Given the description of an element on the screen output the (x, y) to click on. 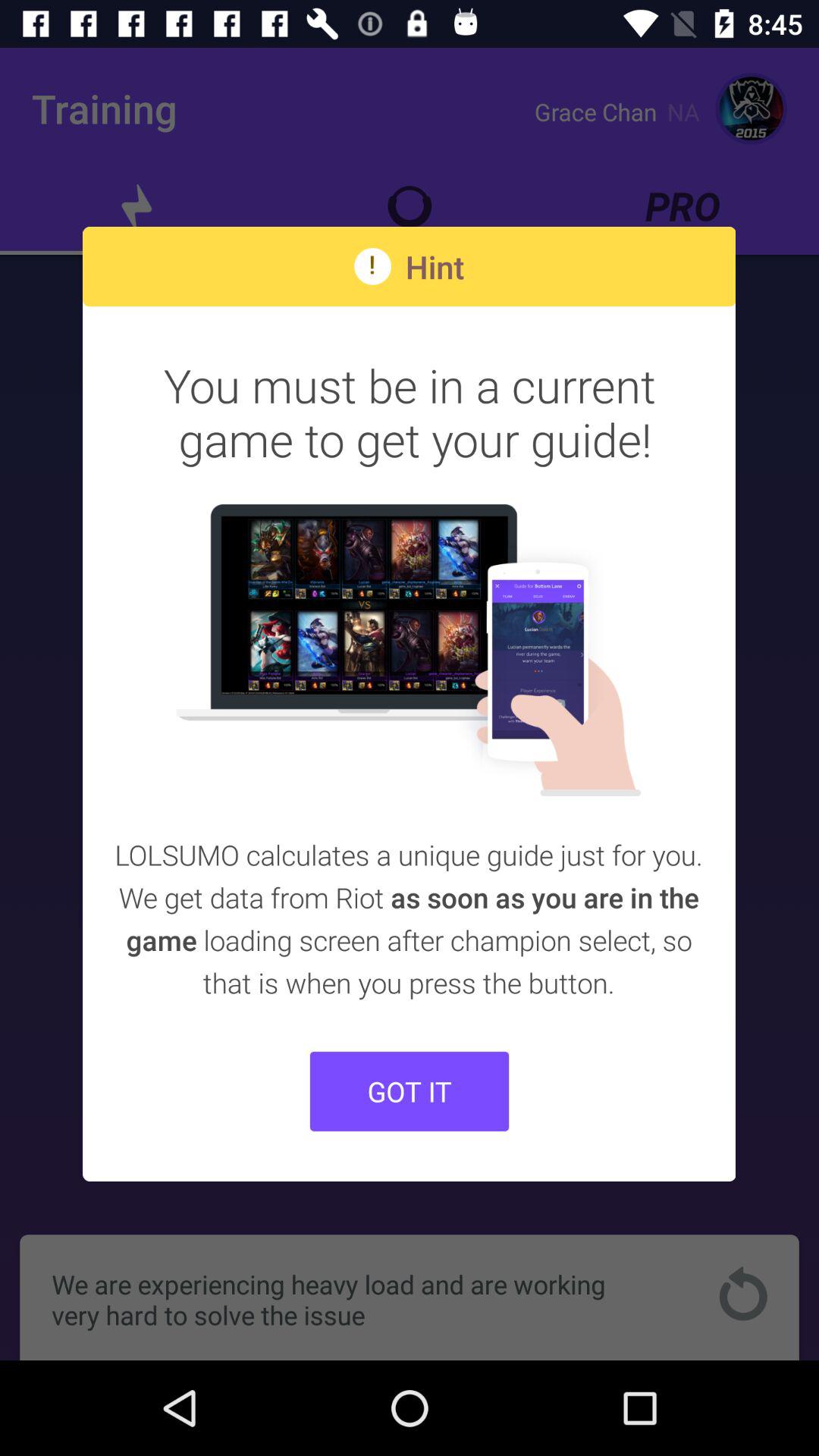
flip to got it icon (409, 1091)
